Given the description of an element on the screen output the (x, y) to click on. 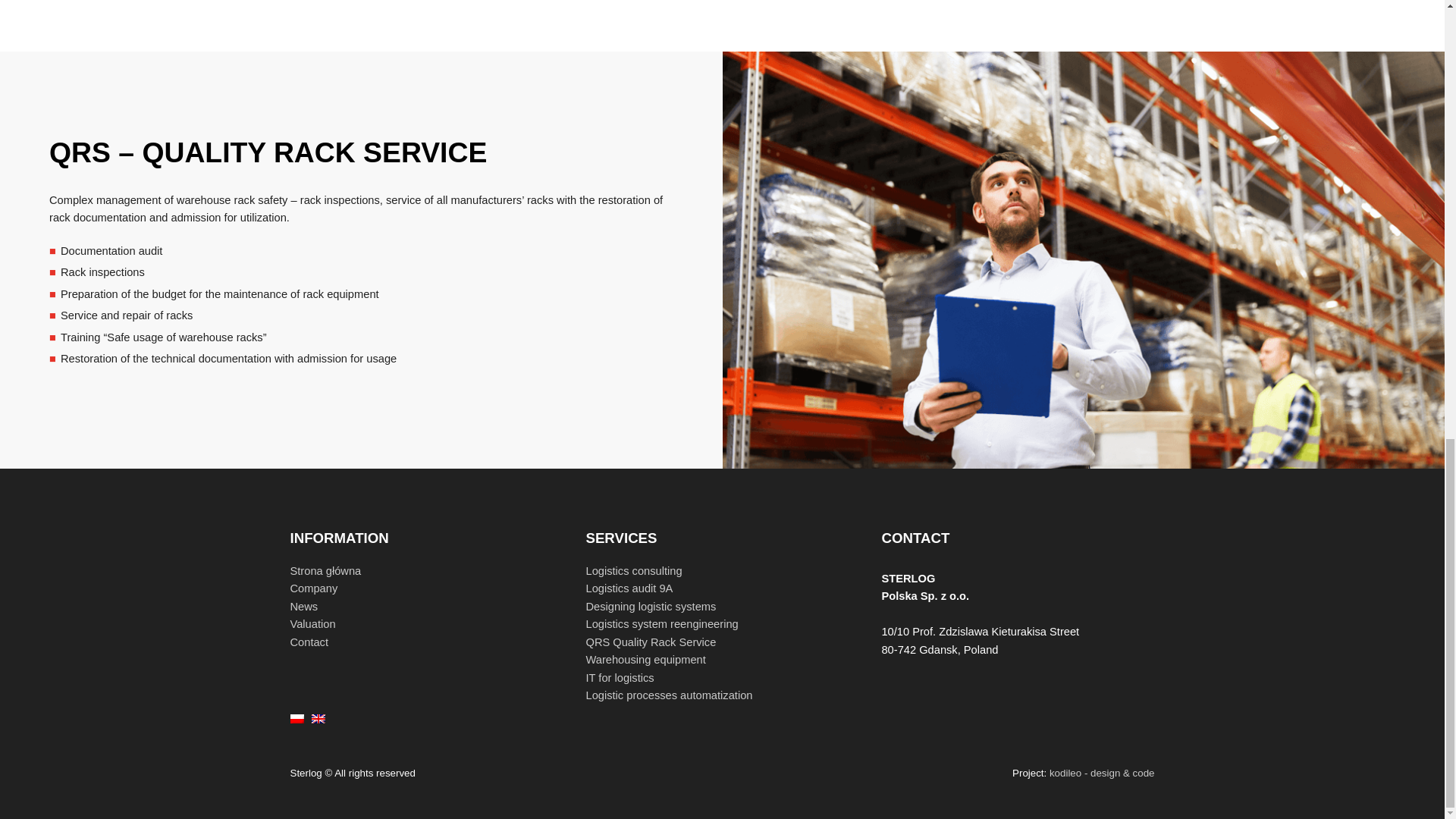
Logistics audit 9A (628, 588)
Company (313, 588)
News (303, 606)
Warehousing equipment (644, 659)
Valuation (311, 623)
Logistic processes automatization (668, 695)
Logistics system reengineering (661, 623)
Contact (309, 642)
Logistics consulting (633, 571)
QRS Quality Rack Service (650, 642)
IT for logistics (619, 677)
Designing logistic systems (650, 606)
